Given the description of an element on the screen output the (x, y) to click on. 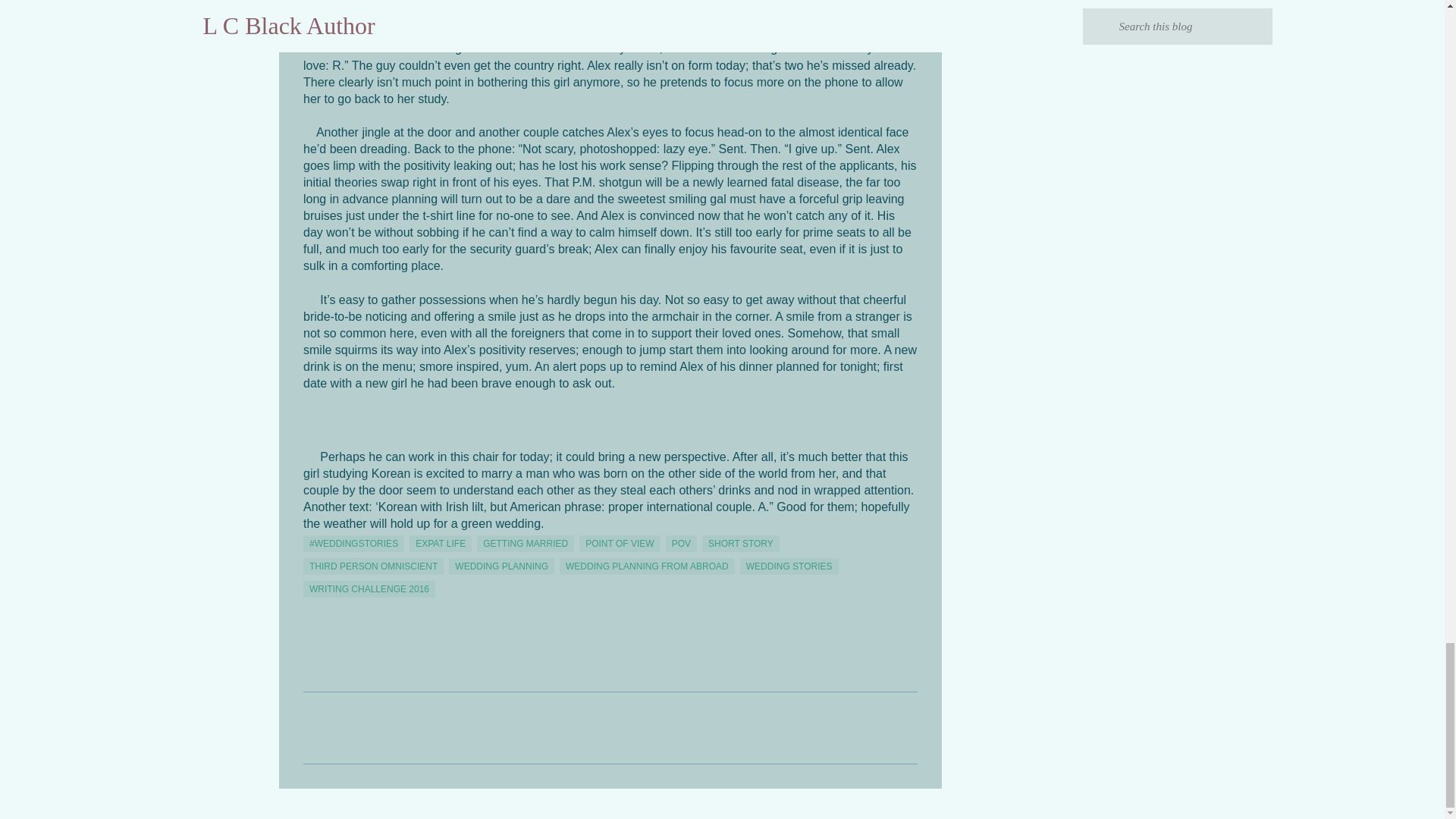
WEDDING PLANNING FROM ABROAD (647, 565)
WEDDING PLANNING (501, 565)
EXPAT LIFE (440, 543)
SHORT STORY (739, 543)
THIRD PERSON OMNISCIENT (373, 565)
GETTING MARRIED (525, 543)
WEDDING STORIES (788, 565)
WRITING CHALLENGE 2016 (368, 588)
POV (681, 543)
POINT OF VIEW (619, 543)
